Given the description of an element on the screen output the (x, y) to click on. 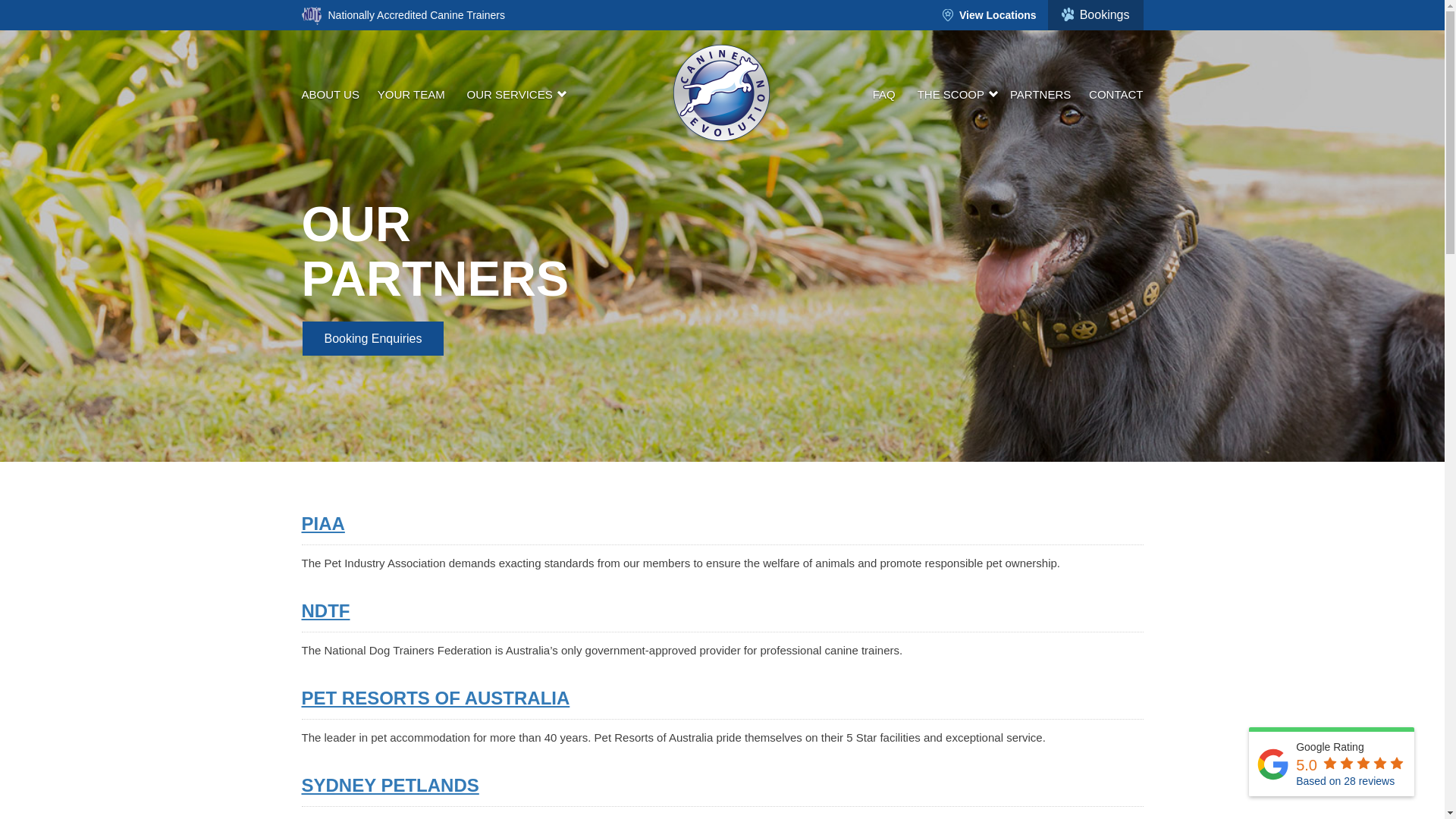
FAQ (883, 93)
YOUR TEAM (410, 93)
View Locations (989, 15)
PARTNERS (1040, 93)
THE SCOOP (951, 93)
Booking Enquiries (372, 338)
ABOUT US (333, 93)
NDTF (325, 610)
OUR SERVICES (511, 93)
CONTACT (1111, 93)
Bookings (1095, 15)
PIAA (323, 523)
